Given the description of an element on the screen output the (x, y) to click on. 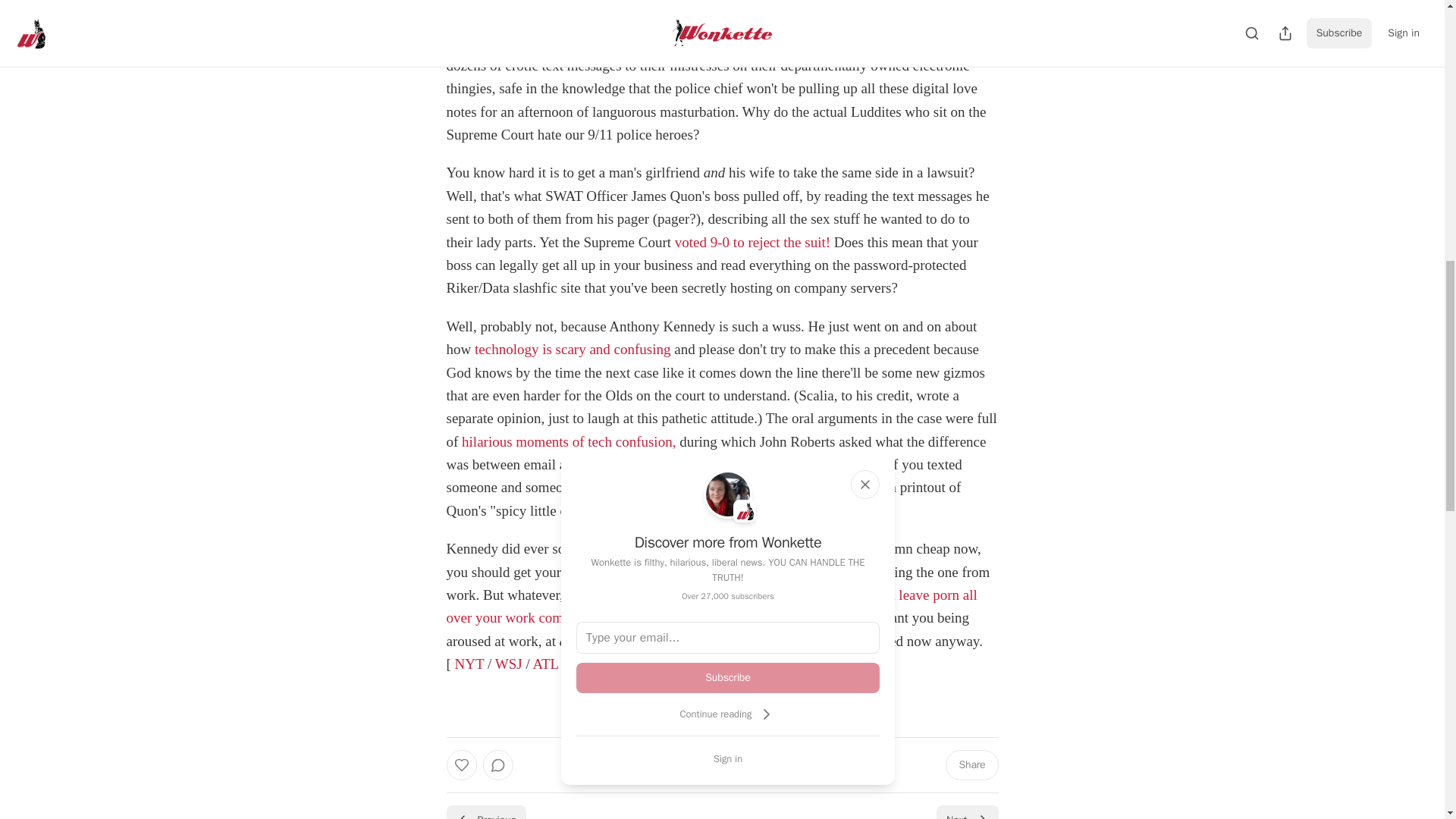
NYT (469, 663)
hilarious moments of tech confusion, (568, 441)
ATL (544, 663)
voted 9-0 to reject the suit! (752, 242)
Sign in (727, 758)
Want to just donate once? (721, 707)
Subscribe (727, 677)
WSJ (508, 663)
technology is scary and confusing (572, 349)
